Given the description of an element on the screen output the (x, y) to click on. 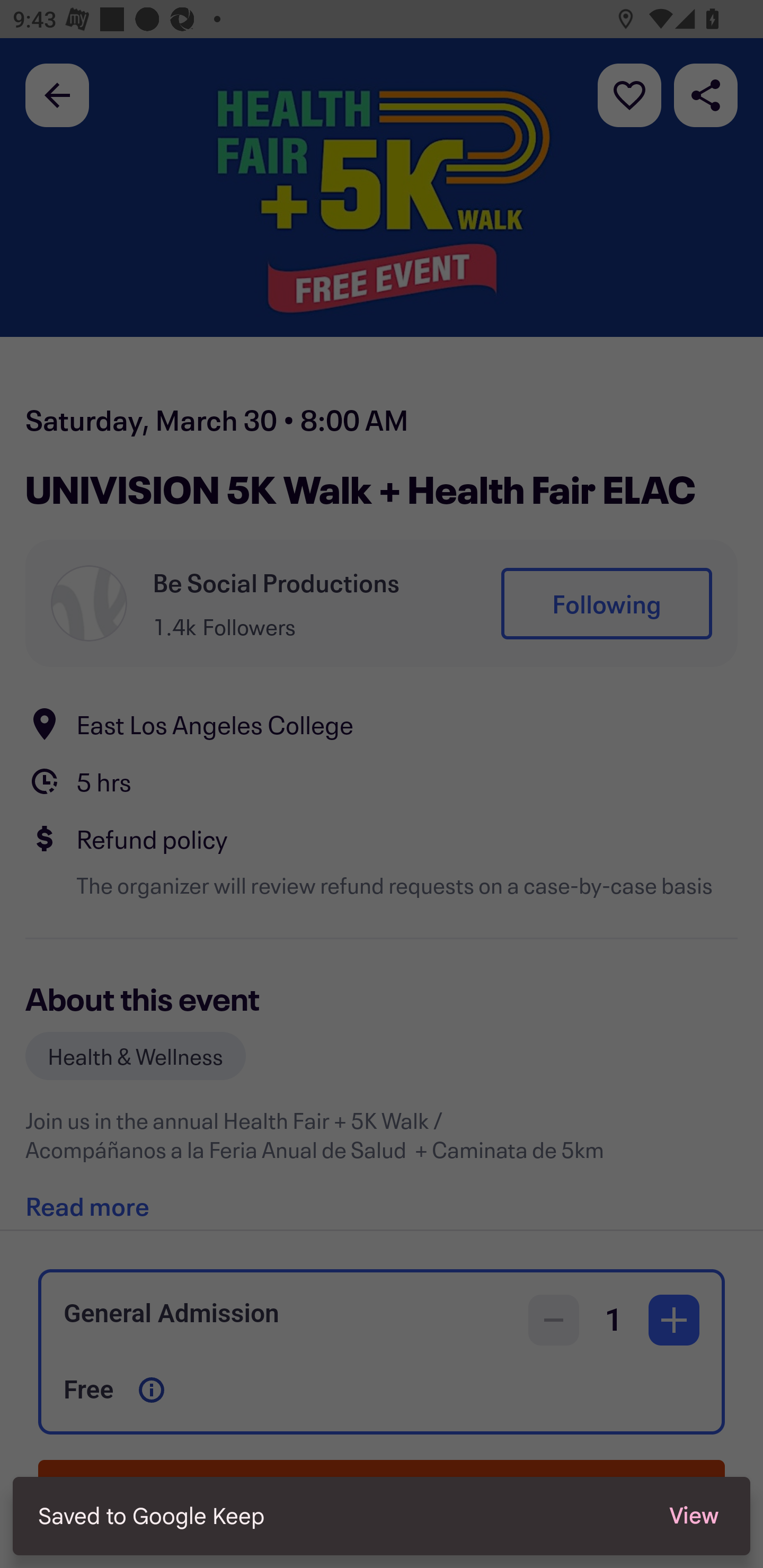
View (693, 1515)
